Given the description of an element on the screen output the (x, y) to click on. 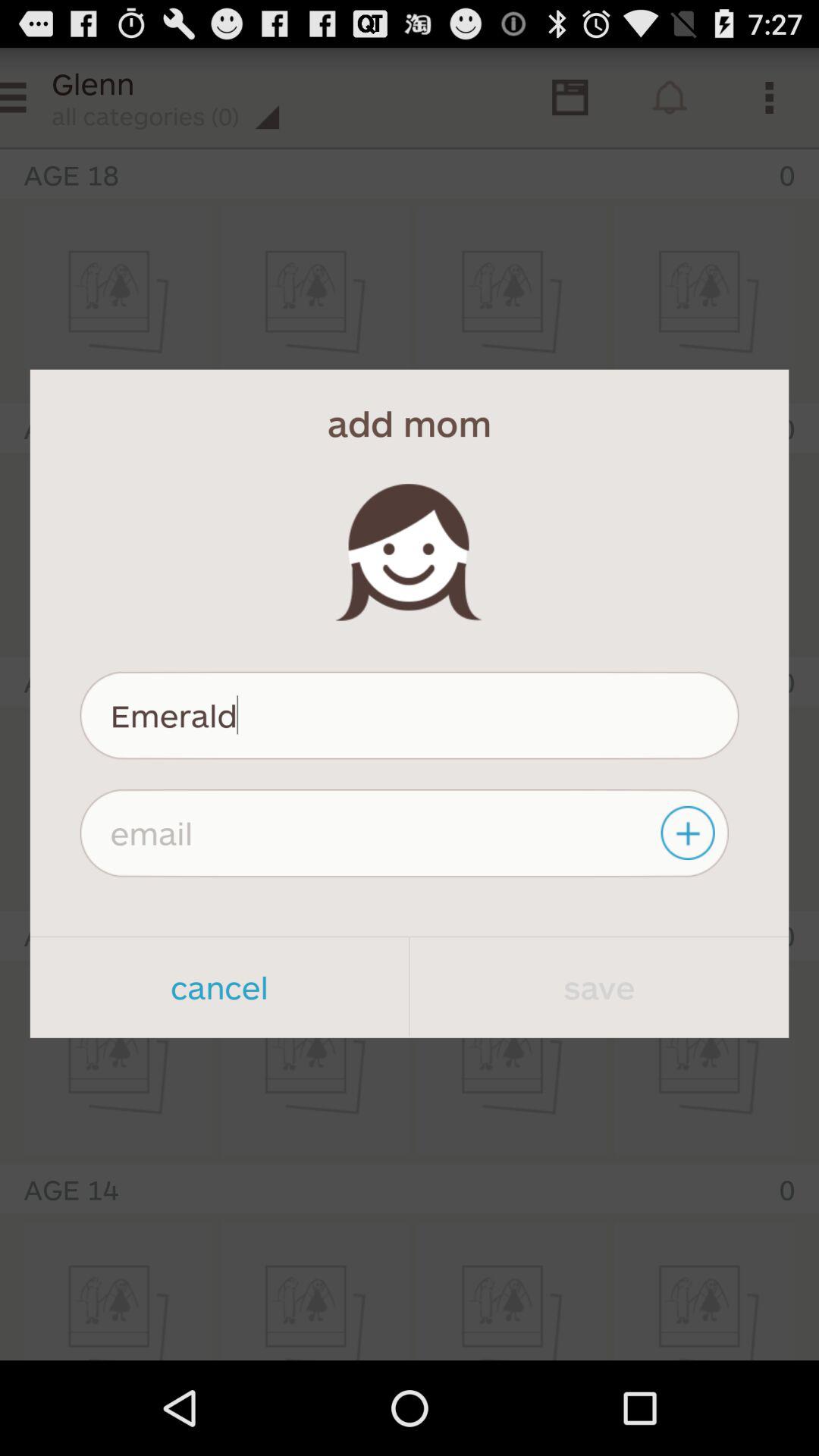
enter email text box (404, 833)
